Given the description of an element on the screen output the (x, y) to click on. 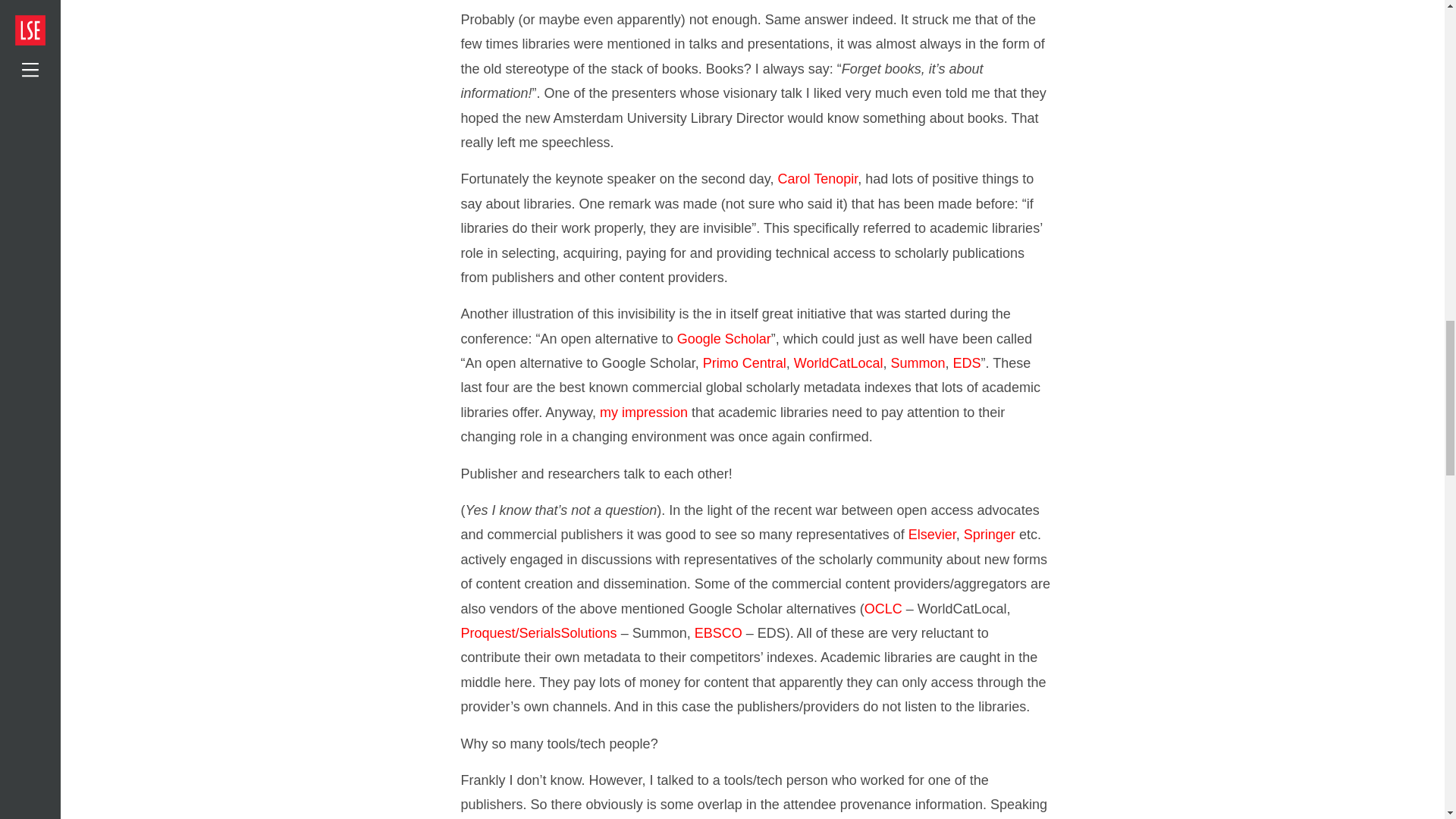
my impression (643, 412)
Google Scholar (724, 338)
Primo Central (744, 363)
WorldCatLocal (838, 363)
Summon (916, 363)
EDS (967, 363)
Carol Tenopir (817, 178)
